Given the description of an element on the screen output the (x, y) to click on. 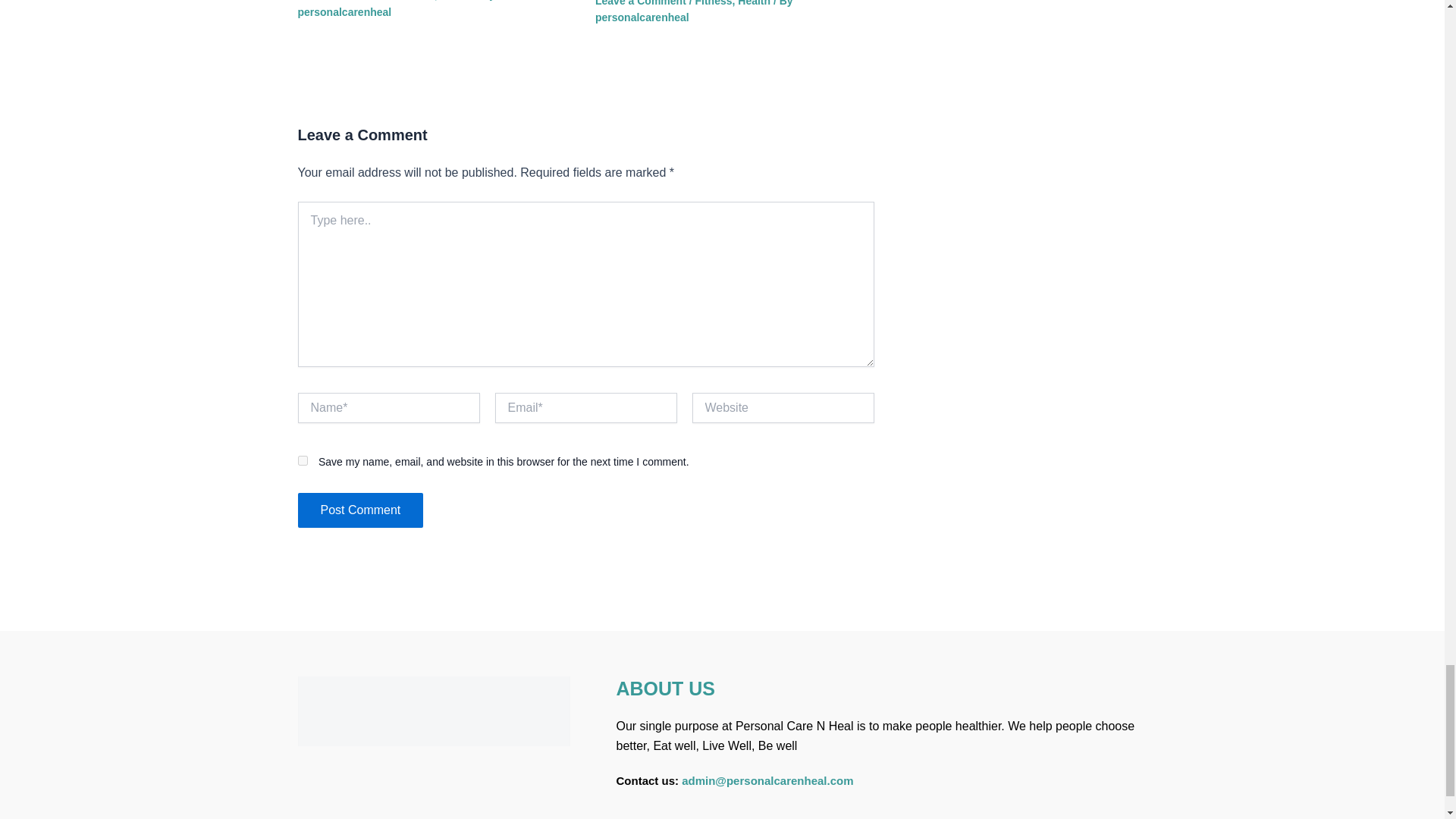
Leave a Comment (640, 3)
yes (302, 460)
personalcarenheal (344, 11)
View all posts by personalcarenheal (344, 11)
View all posts by personalcarenheal (641, 17)
Post Comment (360, 510)
